Given the description of an element on the screen output the (x, y) to click on. 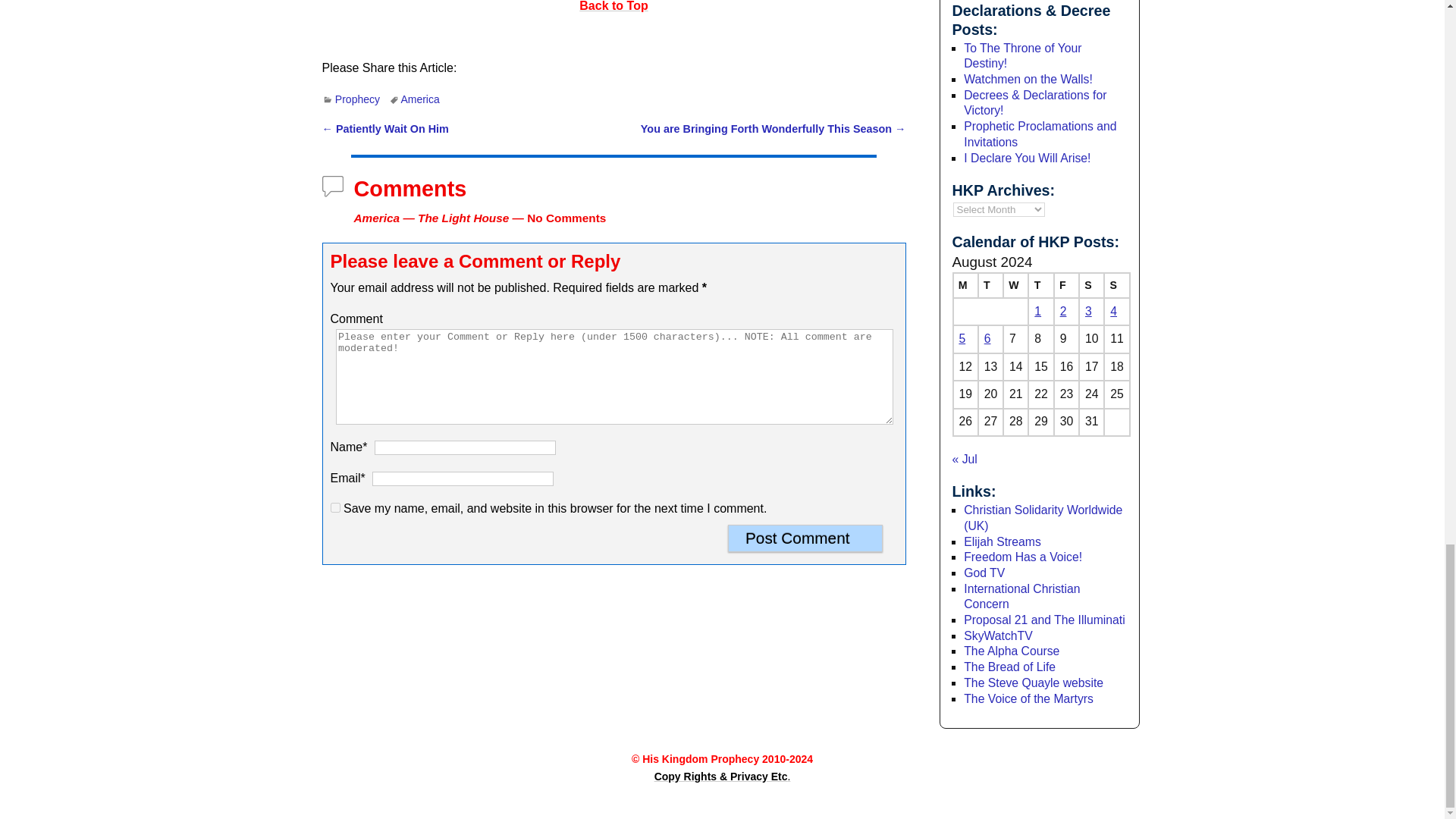
Saturday (1090, 285)
Tuesday (990, 285)
Wednesday (1015, 285)
Post Comment (805, 538)
Friday (1066, 285)
Sunday (1116, 285)
Thursday (1039, 285)
Monday (964, 285)
yes (335, 507)
